Given the description of an element on the screen output the (x, y) to click on. 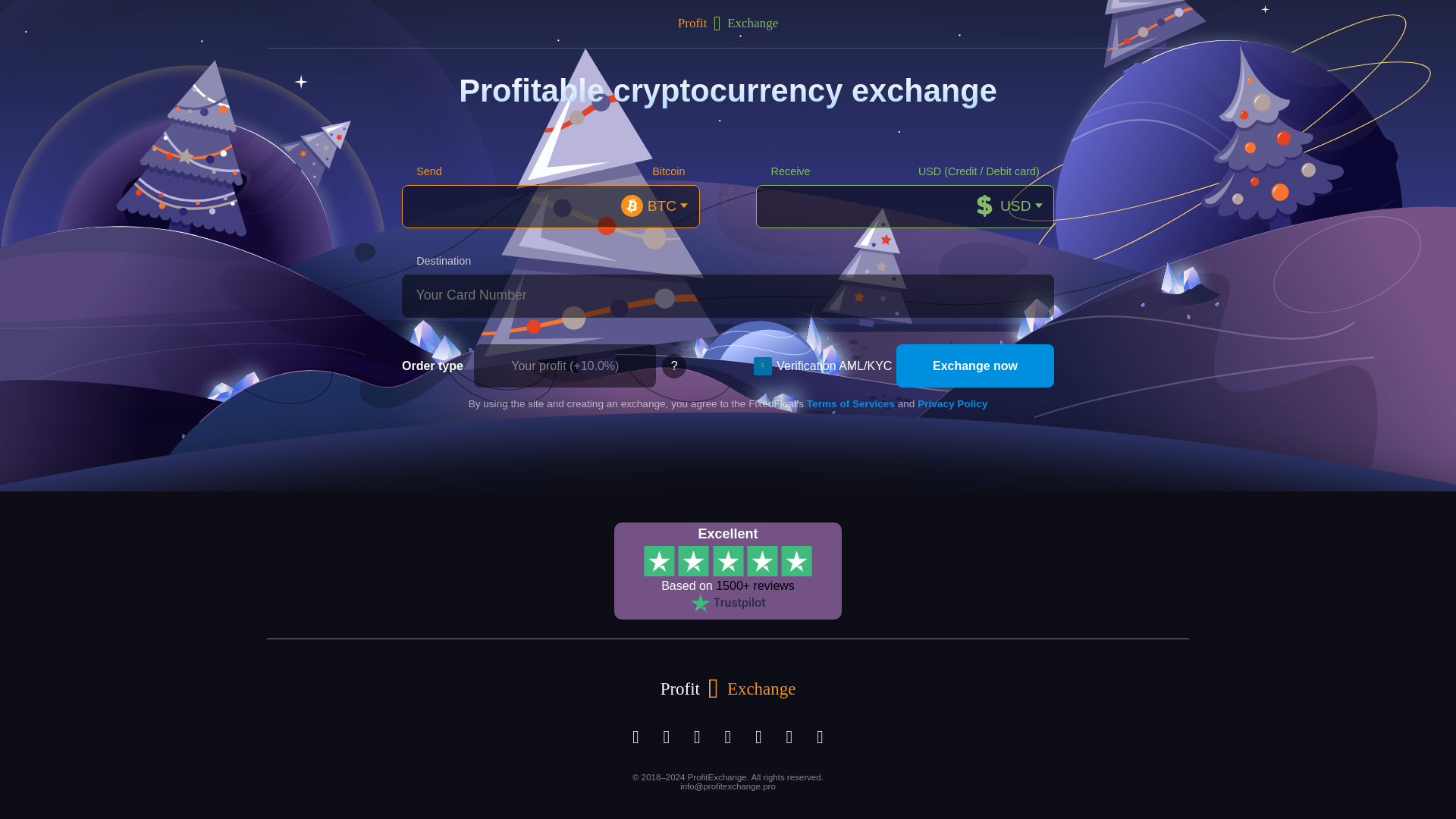
Exchange now (975, 365)
Privacy Policy (952, 403)
Terms of Services (850, 403)
